Given the description of an element on the screen output the (x, y) to click on. 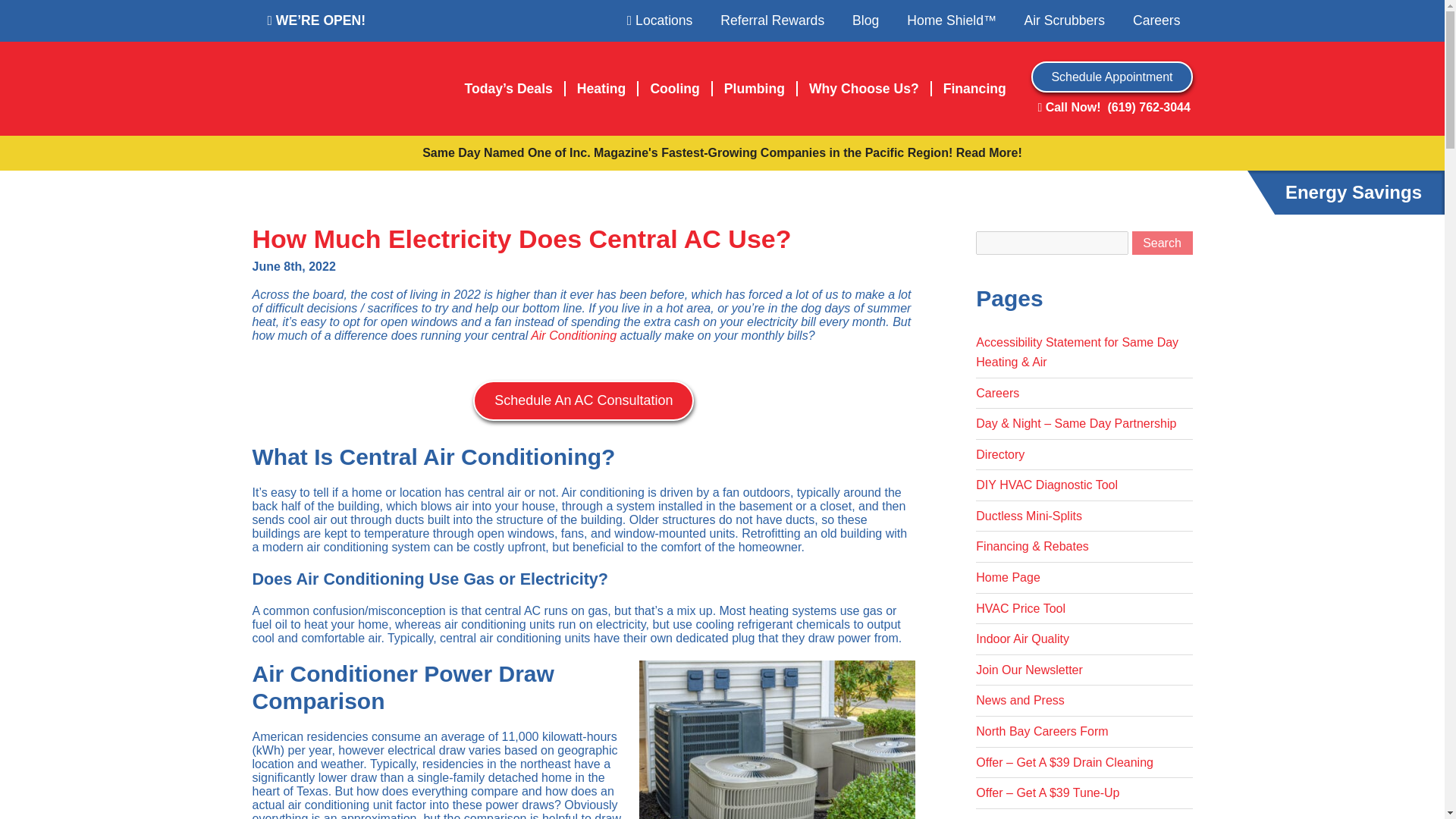
Search (1161, 242)
